Given the description of an element on the screen output the (x, y) to click on. 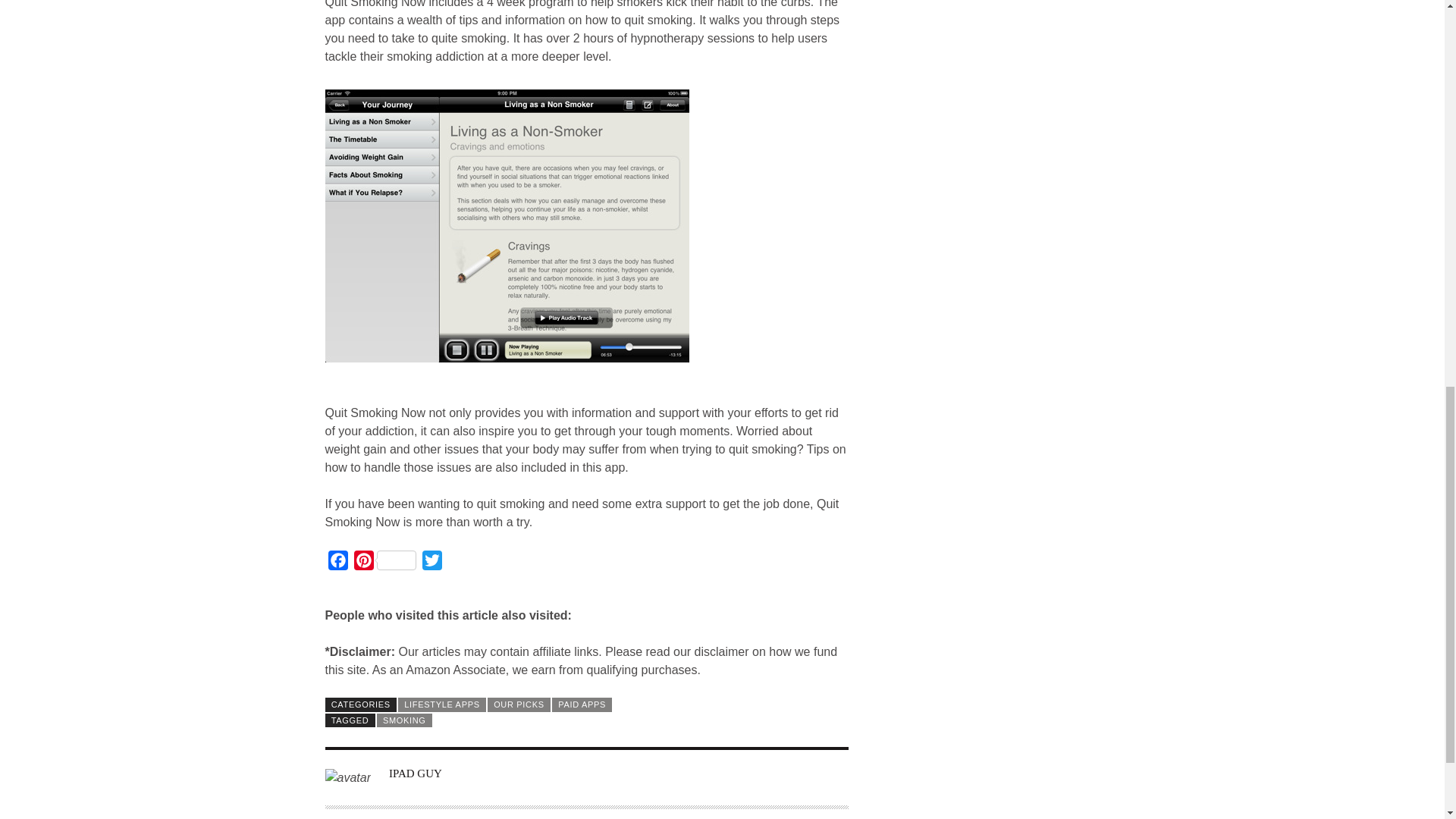
Twitter (431, 563)
Pinterest (384, 563)
Facebook (337, 563)
View all posts in Lifestyle Apps (441, 704)
View all posts in Paid Apps (581, 704)
View all posts in Our Picks (518, 704)
View all posts tagged smoking (404, 719)
